Given the description of an element on the screen output the (x, y) to click on. 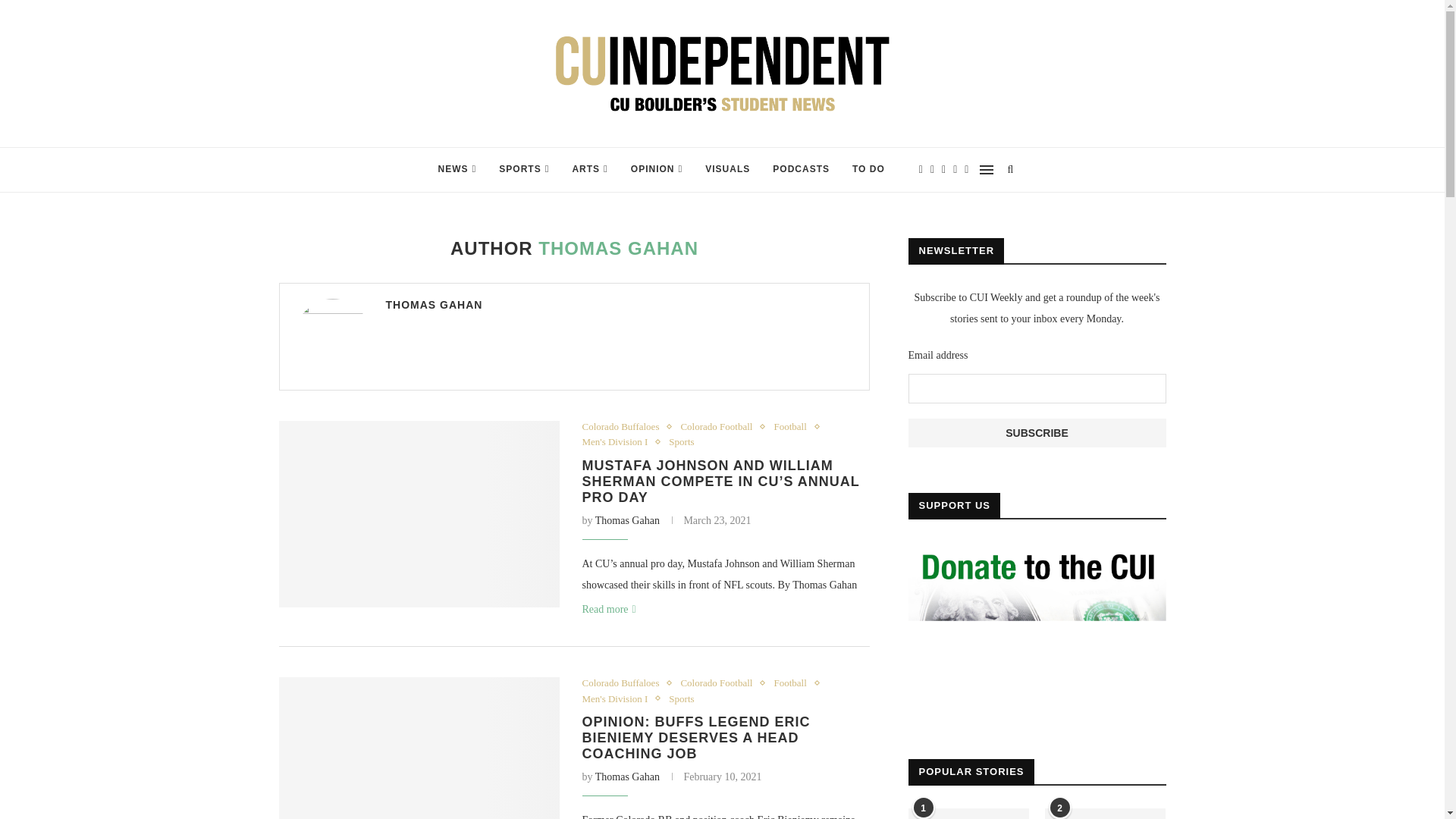
Girl on Girl: Eat me out (968, 813)
Posts by Thomas Gahan (433, 304)
Subscribe (1037, 432)
